Given the description of an element on the screen output the (x, y) to click on. 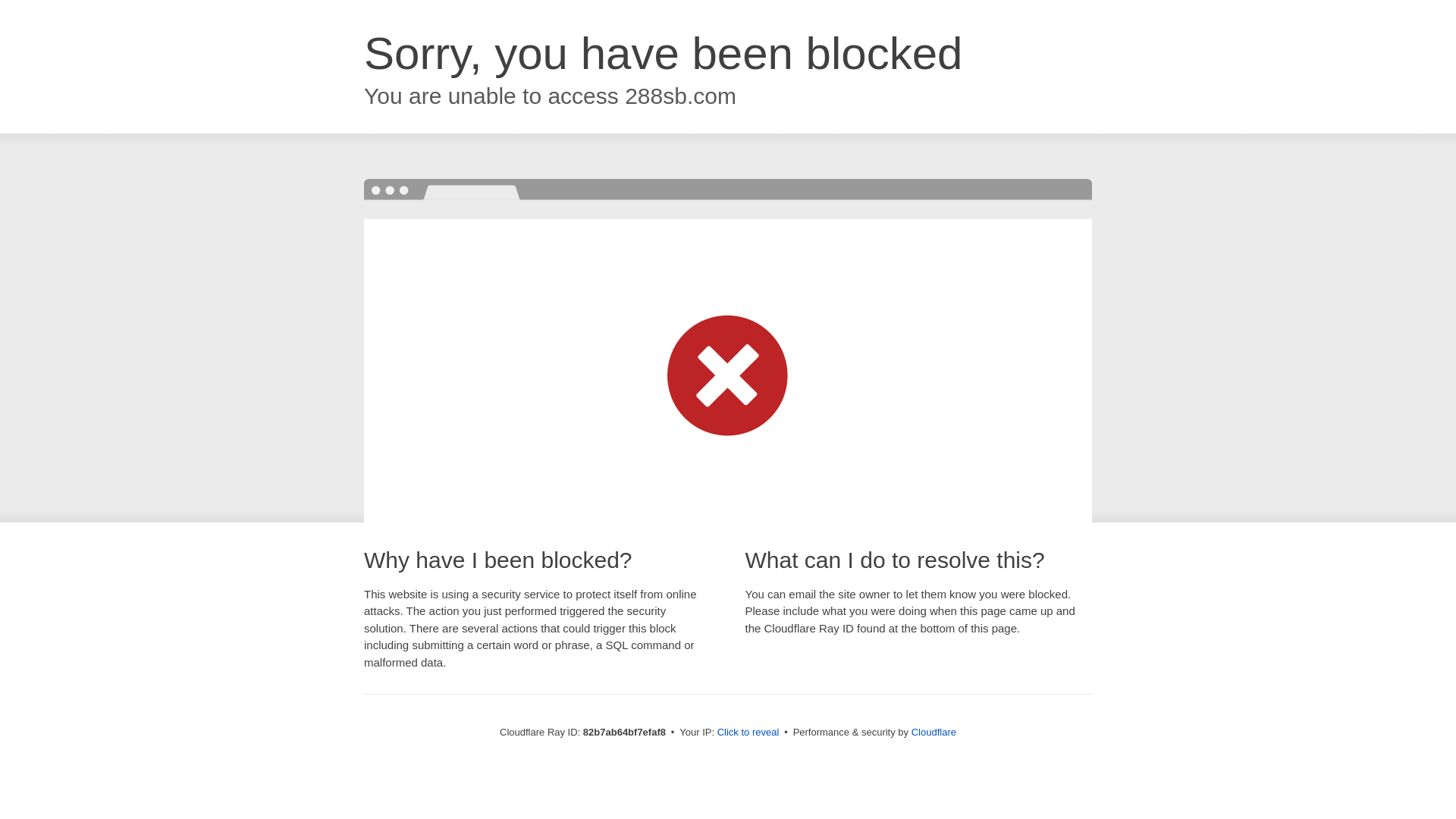
Click to reveal Element type: text (748, 732)
Cloudflare Element type: text (933, 731)
